Given the description of an element on the screen output the (x, y) to click on. 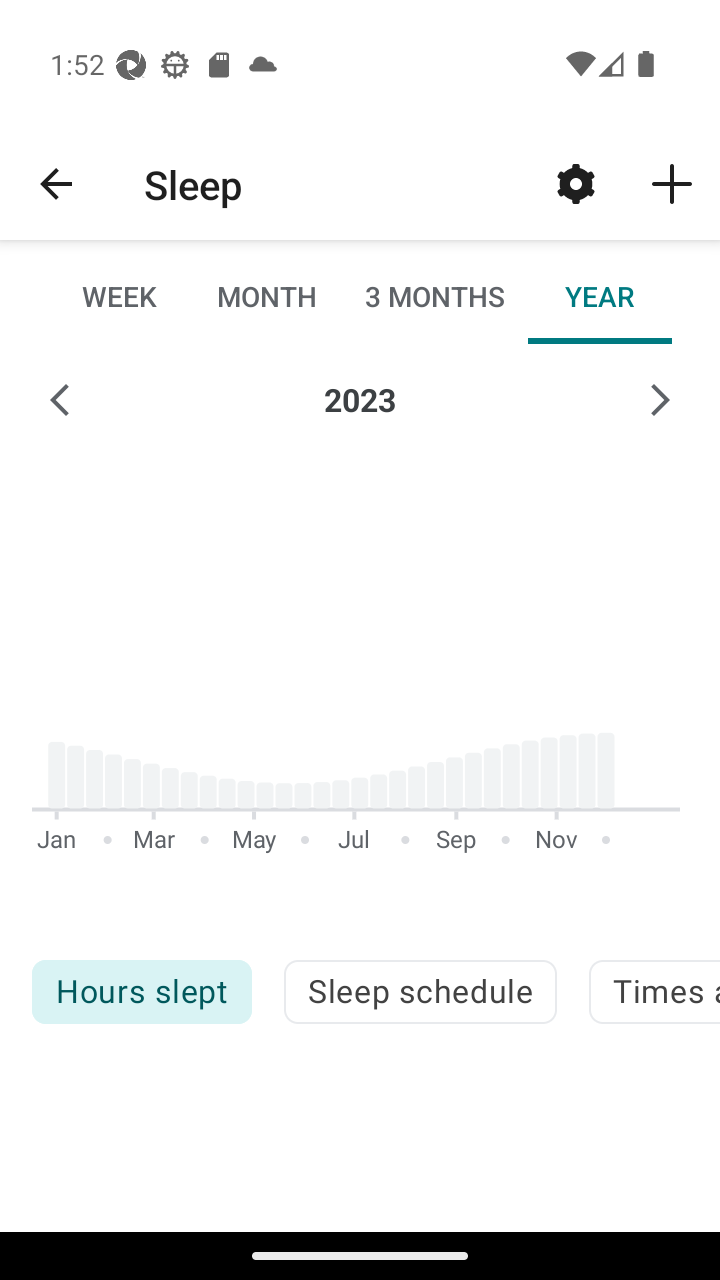
Navigate up (56, 184)
Adjust your goal (575, 183)
Tap to track sleep or
 log a past record (672, 183)
WEEK (120, 296)
MONTH (265, 296)
3 MONTHS (433, 296)
Previous (60, 399)
Next (659, 399)
Hours slept (141, 991)
Sleep schedule (420, 991)
Times awakened (654, 991)
